Given the description of an element on the screen output the (x, y) to click on. 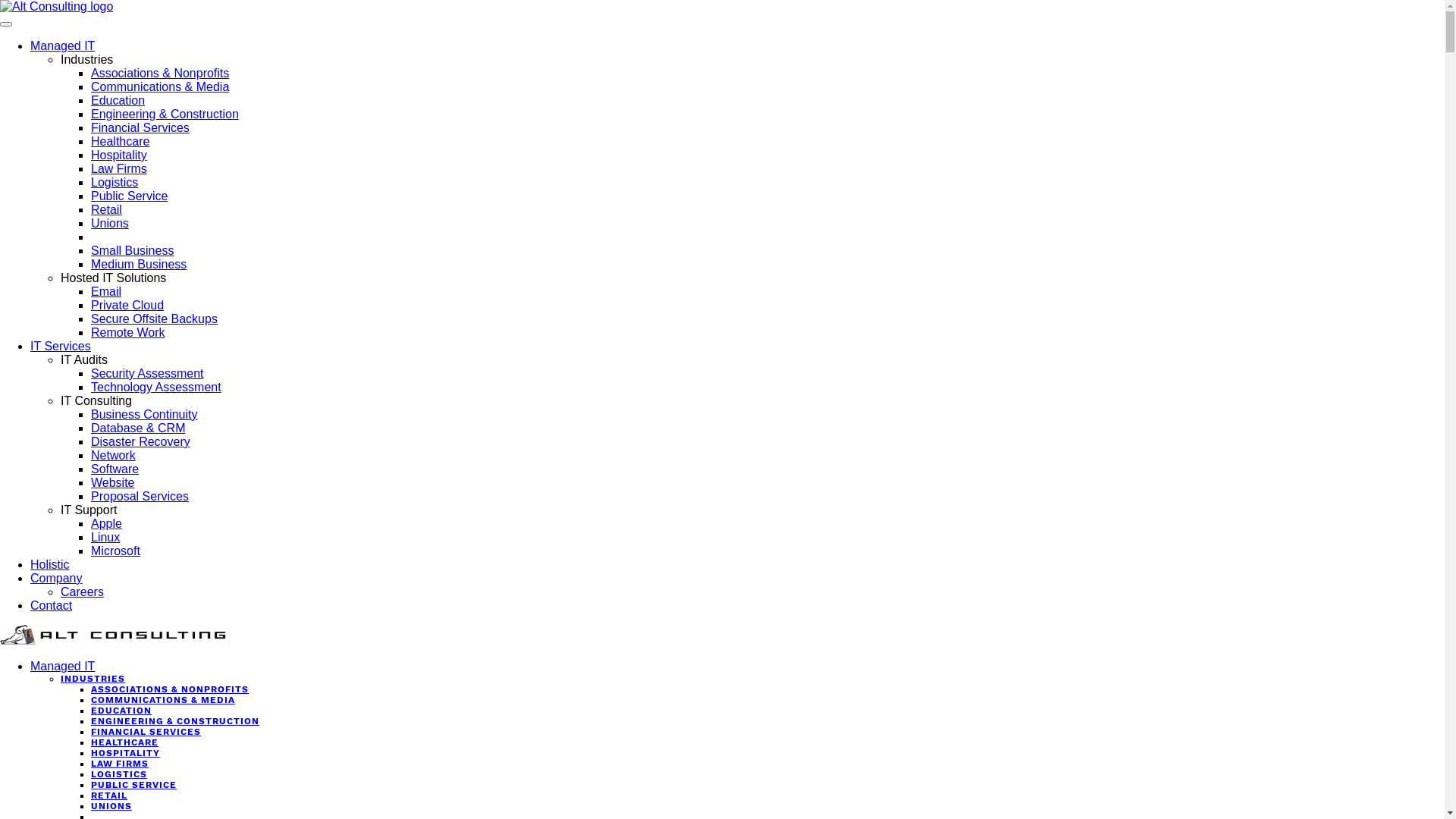
Company Element type: text (55, 577)
Medium Business Element type: text (138, 263)
Secure Offsite Backups Element type: text (154, 318)
IT Services Element type: text (60, 345)
Disaster Recovery Element type: text (140, 441)
Network Element type: text (113, 454)
Microsoft Element type: text (115, 550)
Law Firms Element type: text (119, 168)
LOGISTICS Element type: text (119, 773)
Communications & Media Element type: text (160, 86)
Small Business Element type: text (132, 250)
Software Element type: text (114, 468)
Security Assessment Element type: text (147, 373)
Database & CRM Element type: text (138, 427)
Proposal Services Element type: text (139, 495)
Private Cloud Element type: text (127, 304)
INDUSTRIES Element type: text (92, 678)
COMMUNICATIONS & MEDIA Element type: text (163, 699)
RETAIL Element type: text (109, 795)
Website Element type: text (112, 482)
UNIONS Element type: text (111, 805)
Engineering & Construction Element type: text (164, 113)
FINANCIAL SERVICES Element type: text (145, 731)
Business Continuity Element type: text (144, 413)
ASSOCIATIONS & NONPROFITS Element type: text (169, 689)
Technology Assessment Element type: text (156, 386)
Linux Element type: text (105, 536)
EDUCATION Element type: text (121, 710)
Careers Element type: text (81, 591)
Apple Element type: text (106, 523)
Unions Element type: text (109, 222)
HOSPITALITY Element type: text (125, 752)
Retail Element type: text (106, 209)
Financial Services Element type: text (140, 127)
Holistic Element type: text (49, 564)
Healthcare Element type: text (120, 140)
LAW FIRMS Element type: text (119, 763)
Public Service Element type: text (129, 195)
Associations & Nonprofits Element type: text (160, 72)
Contact Element type: text (51, 605)
HEALTHCARE Element type: text (124, 742)
Hospitality Element type: text (119, 154)
Remote Work Element type: text (128, 332)
PUBLIC SERVICE Element type: text (133, 784)
Email Element type: text (106, 291)
ENGINEERING & CONSTRUCTION Element type: text (175, 720)
Education Element type: text (117, 100)
Managed IT Element type: text (62, 45)
Logistics Element type: text (114, 181)
Managed IT Element type: text (62, 665)
